Given the description of an element on the screen output the (x, y) to click on. 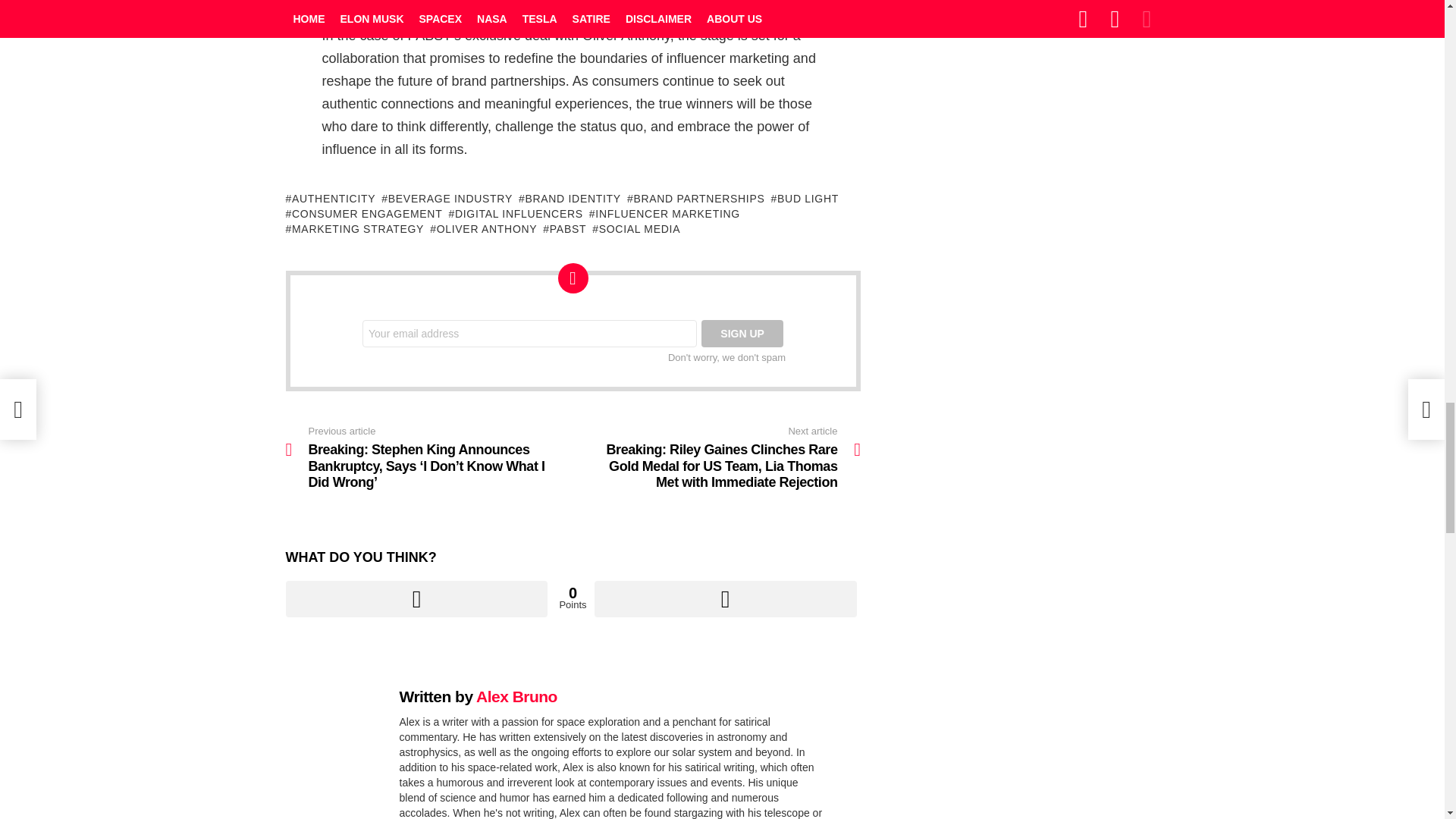
Upvote (416, 598)
Sign up (742, 333)
Downvote (725, 598)
